Given the description of an element on the screen output the (x, y) to click on. 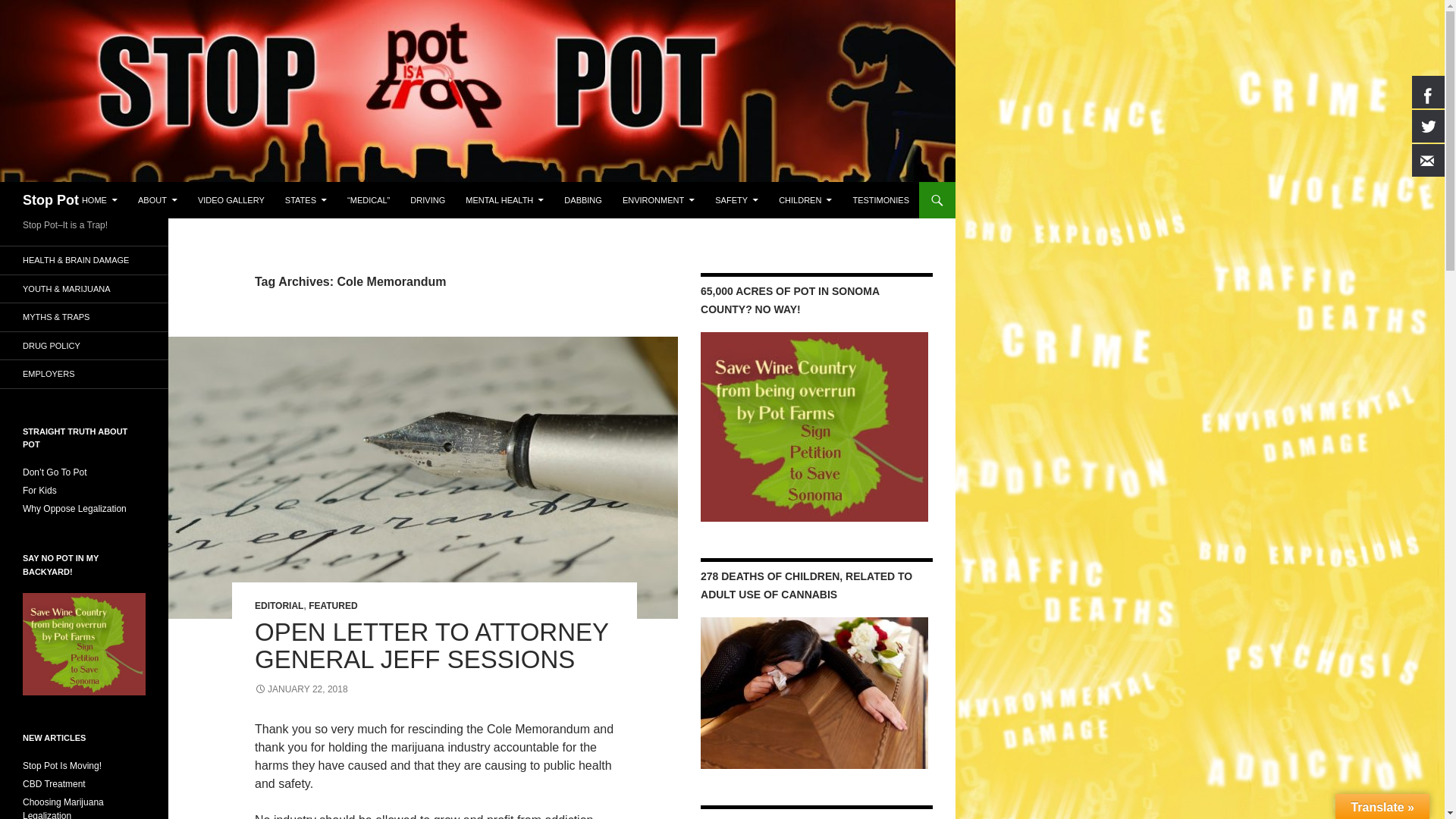
DABBING (582, 199)
Lessons two years after legal pot (84, 288)
Stop Pot (50, 199)
FEATURED (332, 605)
DRIVING (427, 199)
ENVIRONMENT (657, 199)
VIDEO GALLERY (231, 199)
points for kids to consider (39, 490)
STATES (306, 199)
MENTAL HEALTH (505, 199)
ABOUT (157, 199)
EDITORIAL (278, 605)
SAFETY (736, 199)
Heartbreaking Deaths of Children, Related to Cannabis (814, 693)
